Given the description of an element on the screen output the (x, y) to click on. 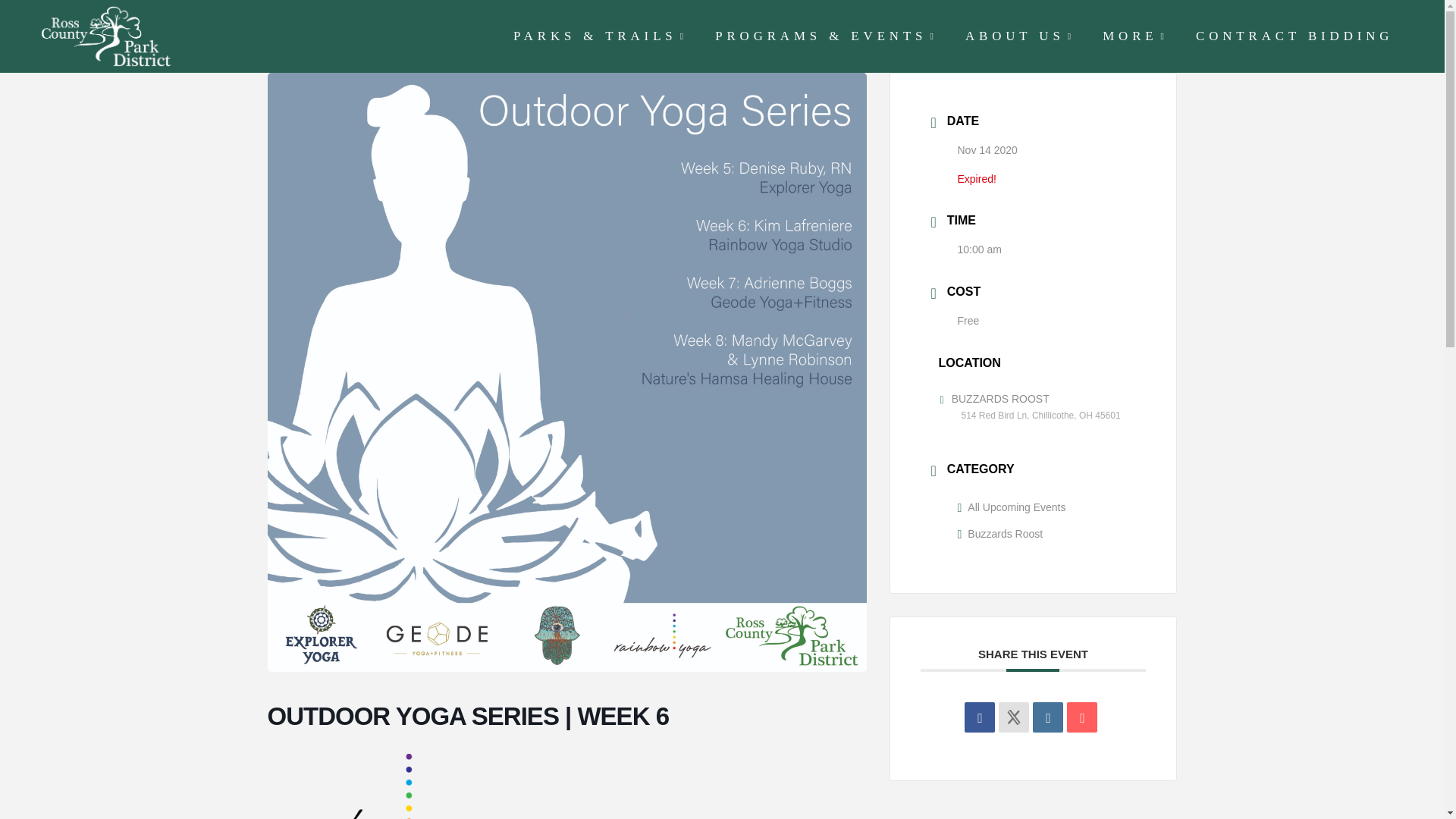
All Upcoming Events (1010, 506)
Linkedin (1047, 716)
MORE (1132, 36)
Share on Facebook (978, 716)
Buzzards Roost (999, 533)
Email (1082, 716)
CONTRACT BIDDING (1292, 36)
X Social Network (1013, 716)
ABOUT US (1017, 36)
